Given the description of an element on the screen output the (x, y) to click on. 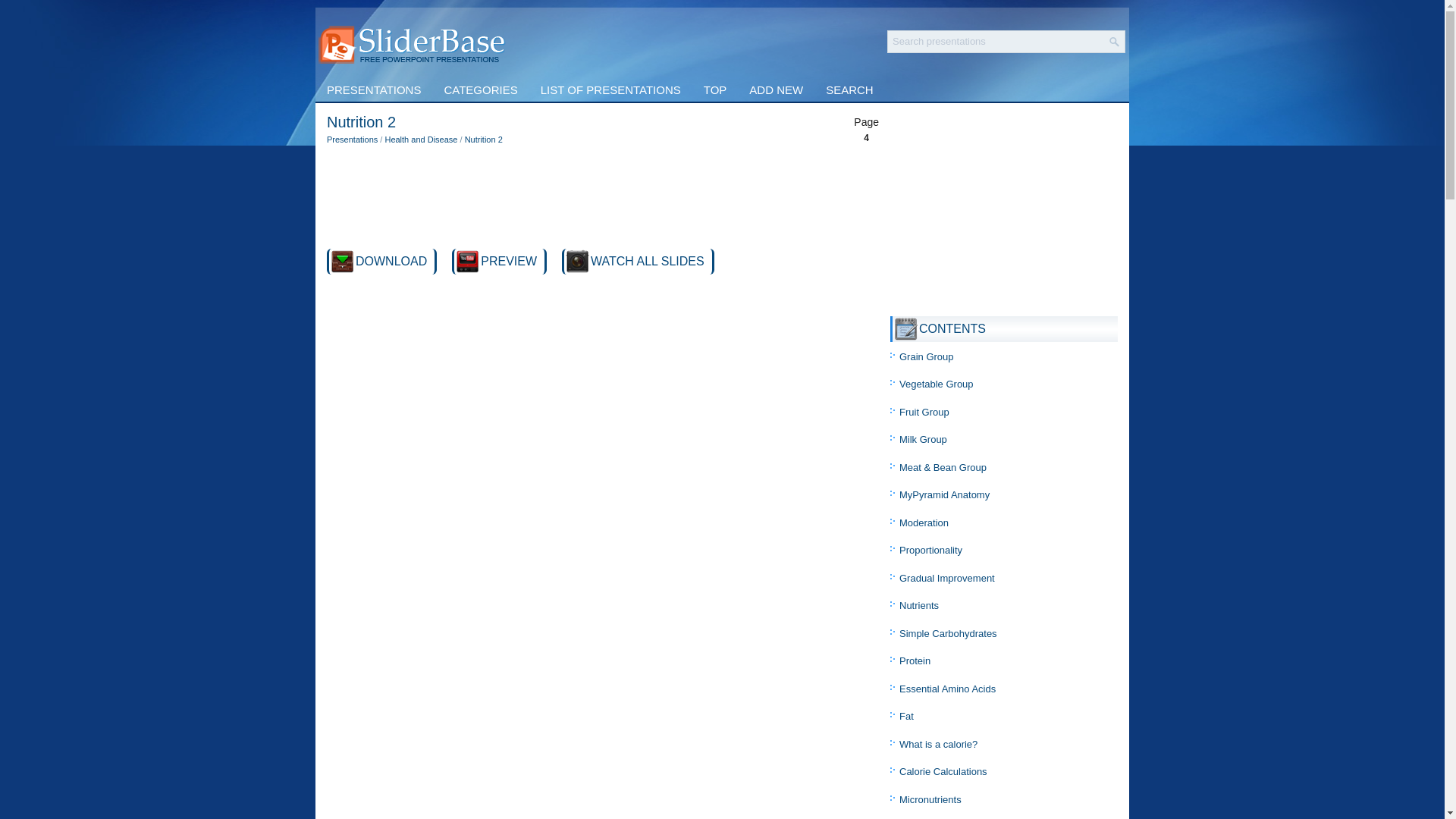
DOWNLOAD (390, 261)
Nutrition 2 (483, 139)
Nutrition 2 (647, 260)
ADD NEW (775, 90)
Search presentations (996, 41)
SEARCH (849, 90)
CATEGORIES (480, 90)
PREVIEW (508, 261)
WATCH ALL SLIDES (647, 260)
LIST OF PRESENTATIONS (611, 90)
